Given the description of an element on the screen output the (x, y) to click on. 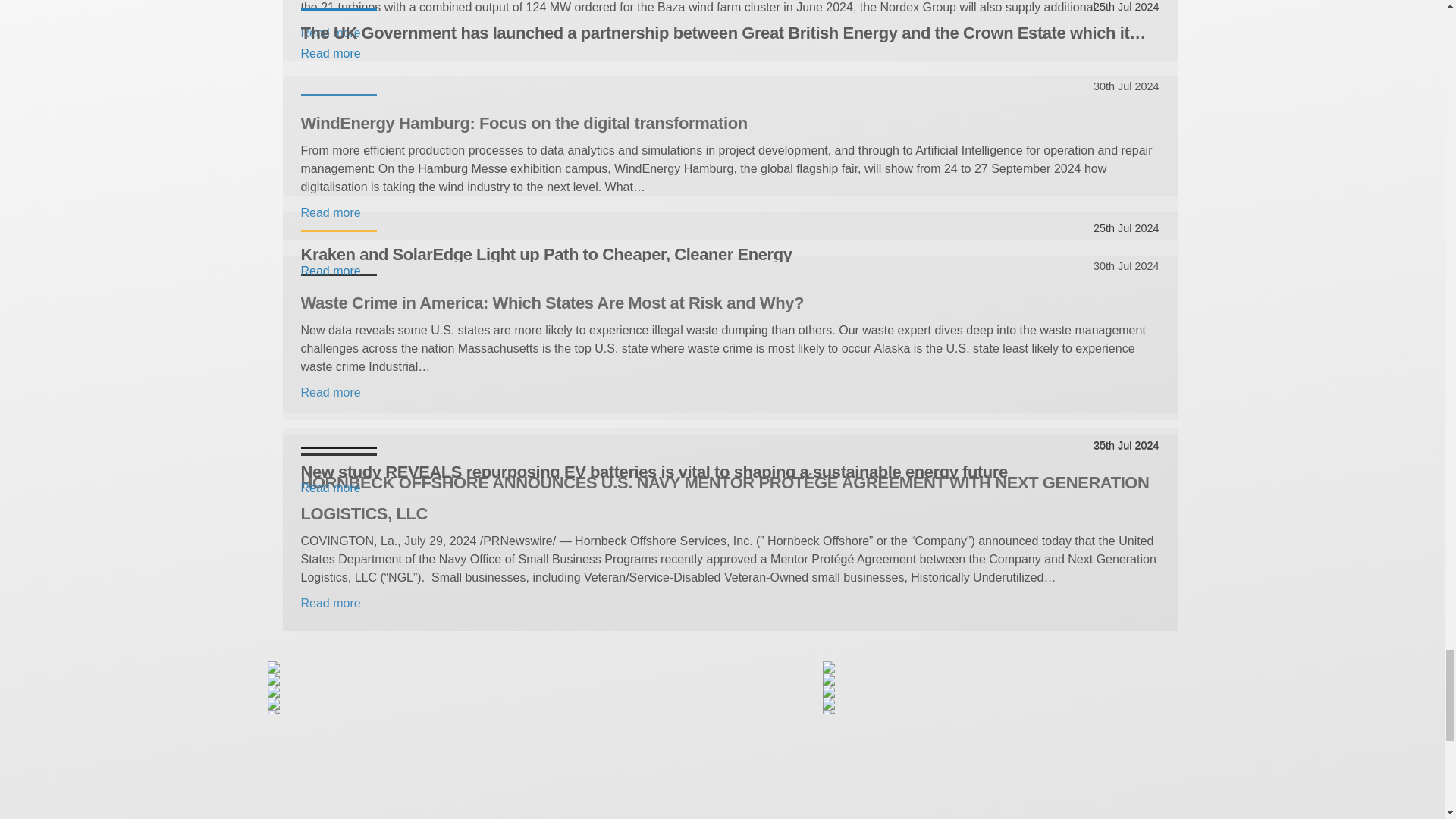
WindEnergy Hamburg: Focus on the digital transformation (728, 122)
